Given the description of an element on the screen output the (x, y) to click on. 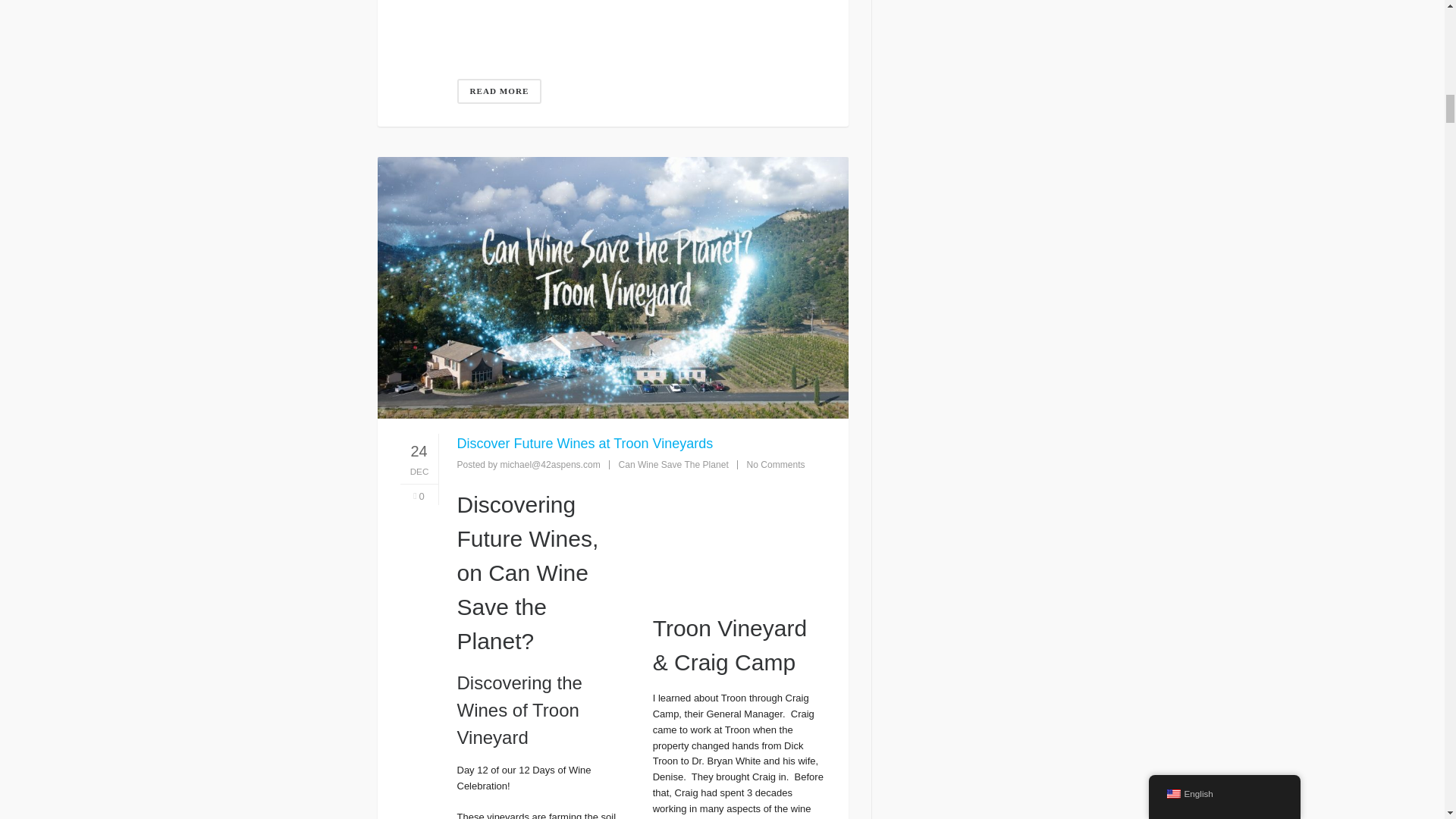
Can Wine Save the Planet, Documentary Project Funding Video (641, 16)
Discover Future Wines at Troon Vineyards (738, 535)
Discover Future Wines at Troon Vineyards (585, 443)
Can Wine Save The Planet (672, 464)
Like this post. Discover Future Wines at Troon Vineyards (419, 496)
No Comments (775, 464)
READ MORE (499, 91)
